Given the description of an element on the screen output the (x, y) to click on. 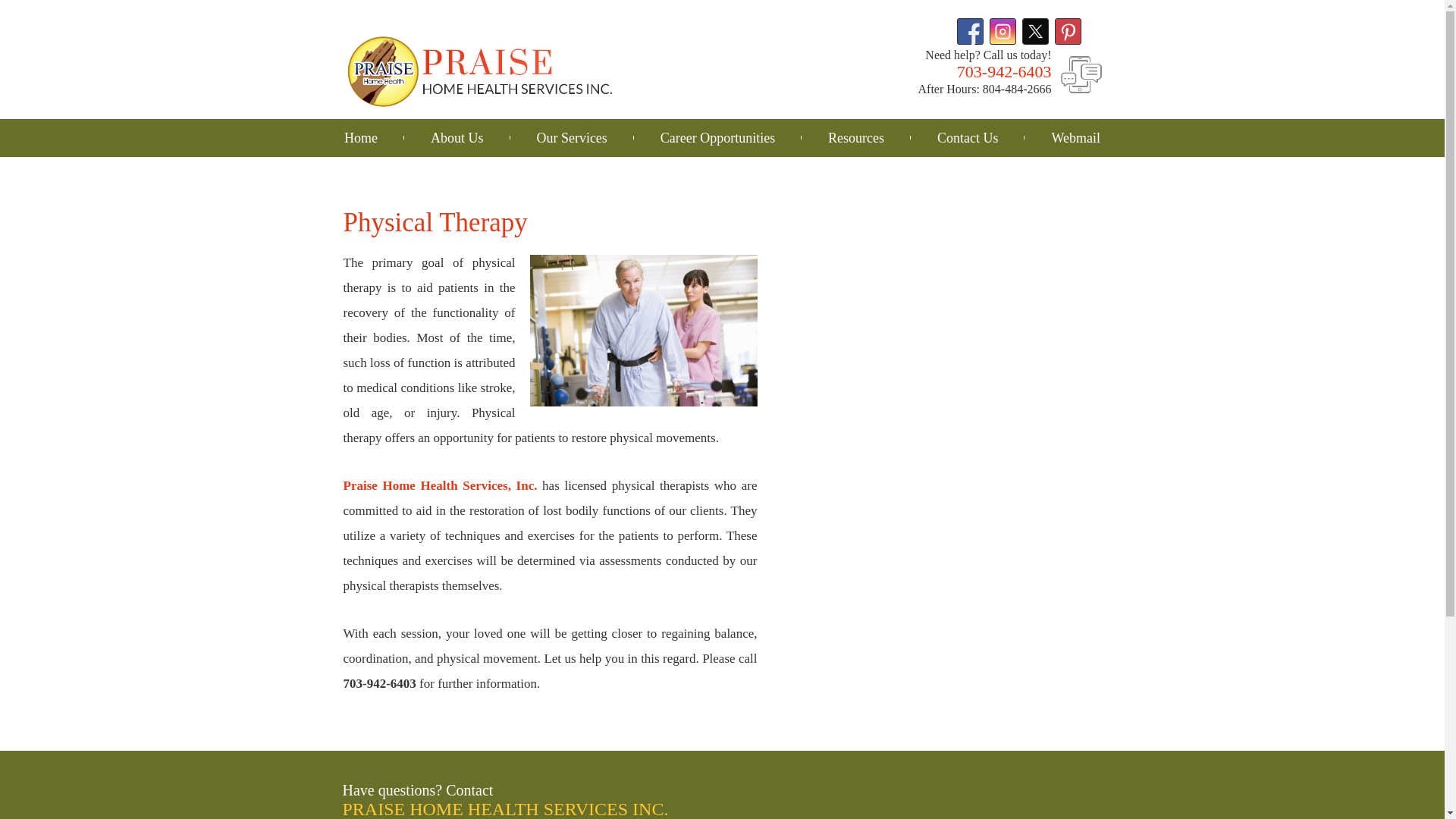
Contact Us (968, 137)
About Us (457, 137)
Career Opportunities (717, 137)
Webmail (1075, 137)
Resources (856, 137)
Home (360, 137)
Our Services (571, 137)
